Given the description of an element on the screen output the (x, y) to click on. 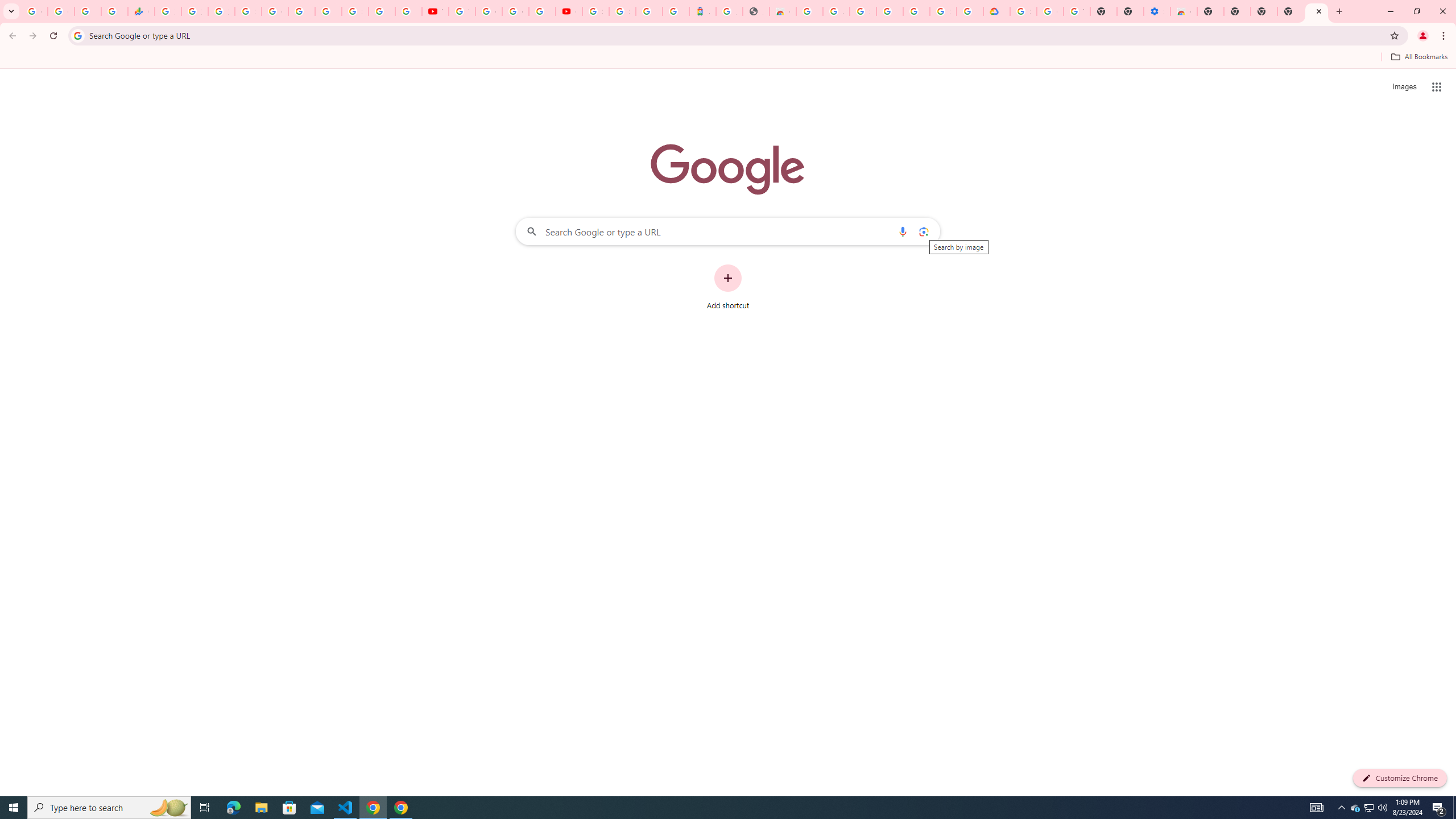
Chrome Web Store - Accessibility extensions (1183, 11)
New Tab (1290, 11)
Create your Google Account (515, 11)
Turn cookies on or off - Computer - Google Account Help (1076, 11)
Sign in - Google Accounts (622, 11)
